Given the description of an element on the screen output the (x, y) to click on. 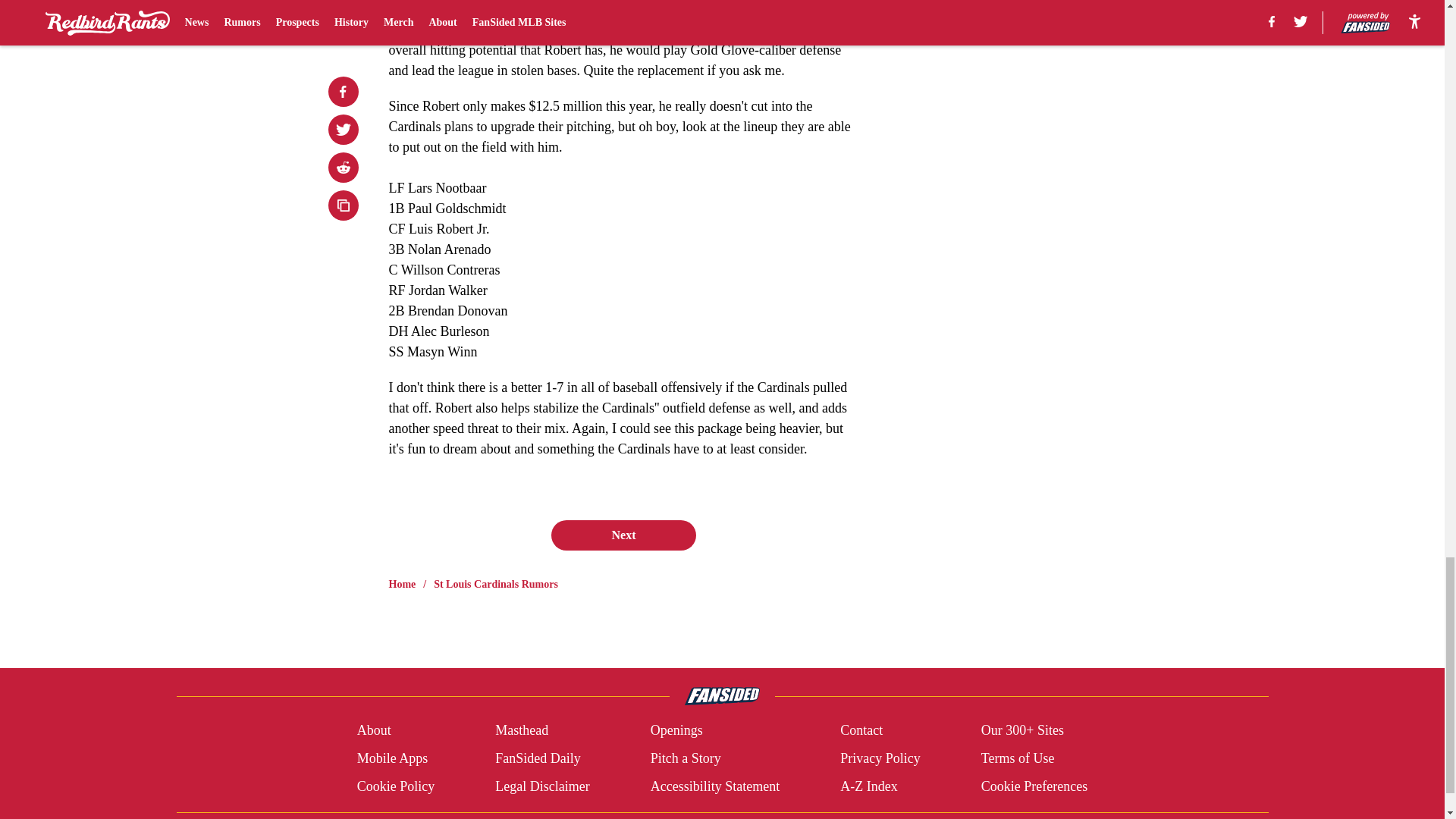
Next (622, 535)
About (373, 730)
Home (401, 584)
Contact (861, 730)
Legal Disclaimer (542, 786)
Terms of Use (1017, 758)
Mobile Apps (392, 758)
Cookie Policy (395, 786)
FanSided Daily (537, 758)
Privacy Policy (880, 758)
Pitch a Story (685, 758)
St Louis Cardinals Rumors (495, 584)
Accessibility Statement (714, 786)
Masthead (521, 730)
A-Z Index (868, 786)
